Given the description of an element on the screen output the (x, y) to click on. 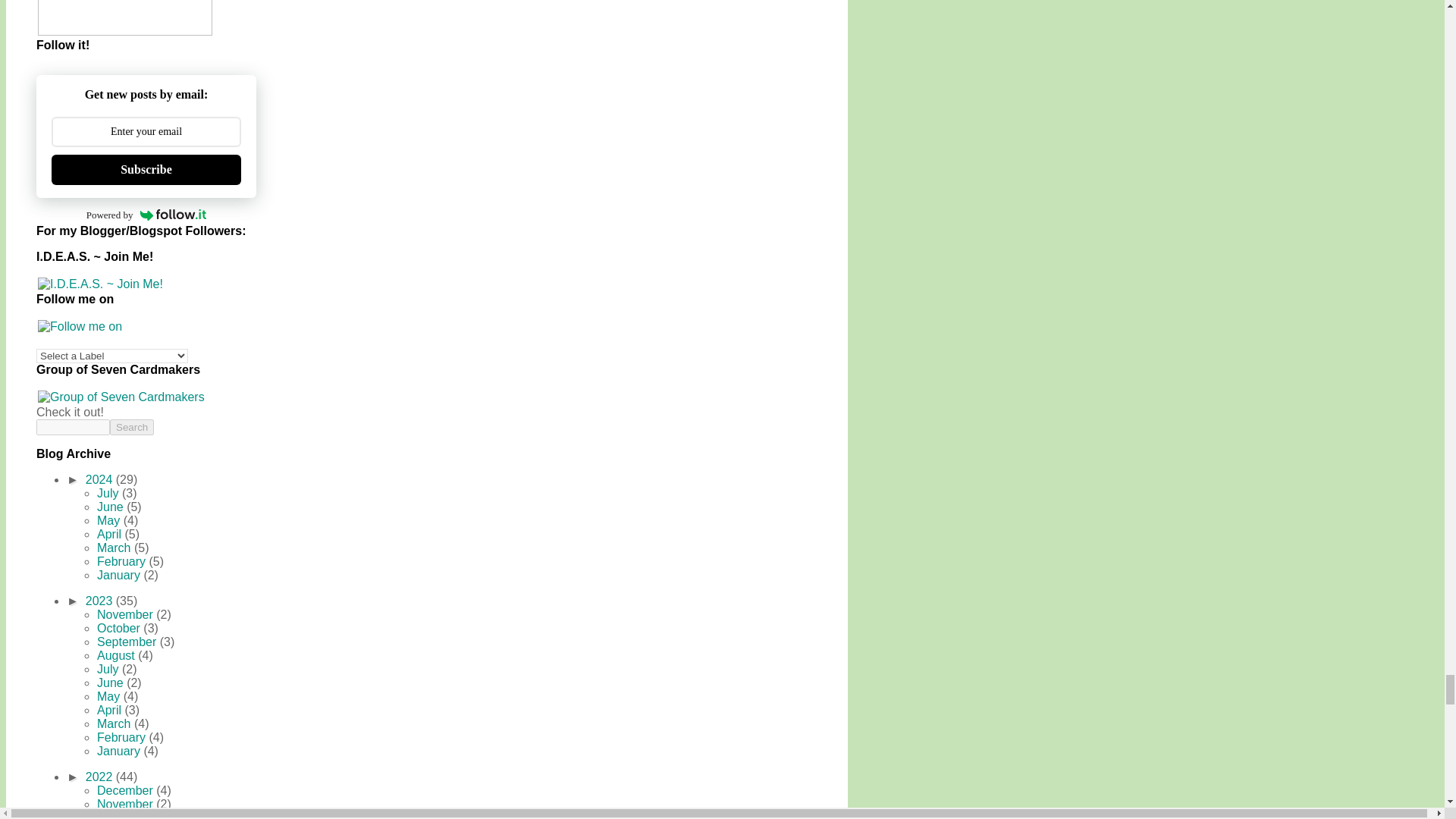
Search (132, 426)
Search (132, 426)
